Given the description of an element on the screen output the (x, y) to click on. 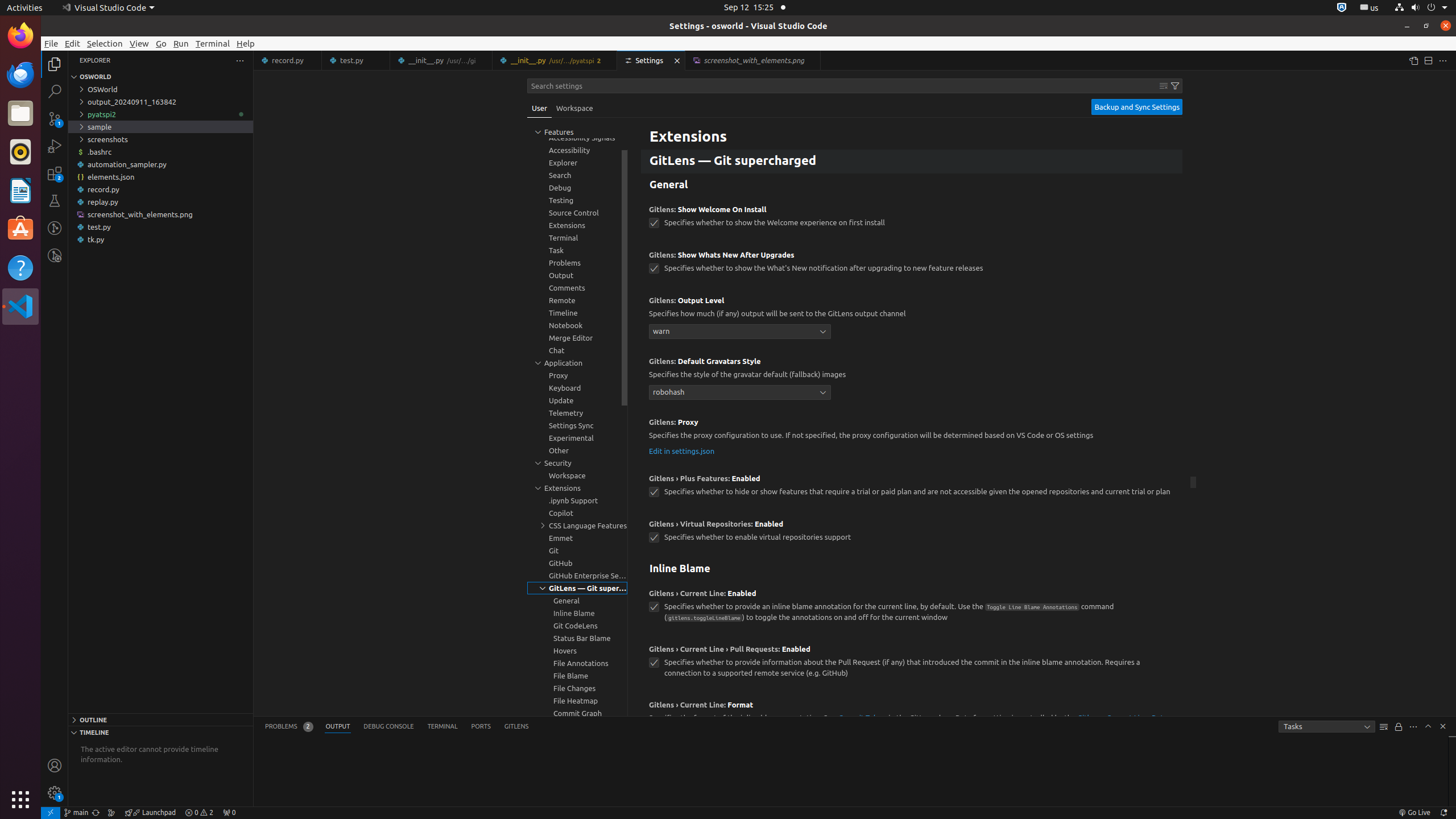
__init__.py Element type: page-tab (554, 60)
Git, group Element type: tree-item (577, 550)
Terminal (Ctrl+`) Element type: page-tab (442, 726)
Settings Sync, group Element type: tree-item (577, 425)
Output, group Element type: tree-item (577, 275)
